Given the description of an element on the screen output the (x, y) to click on. 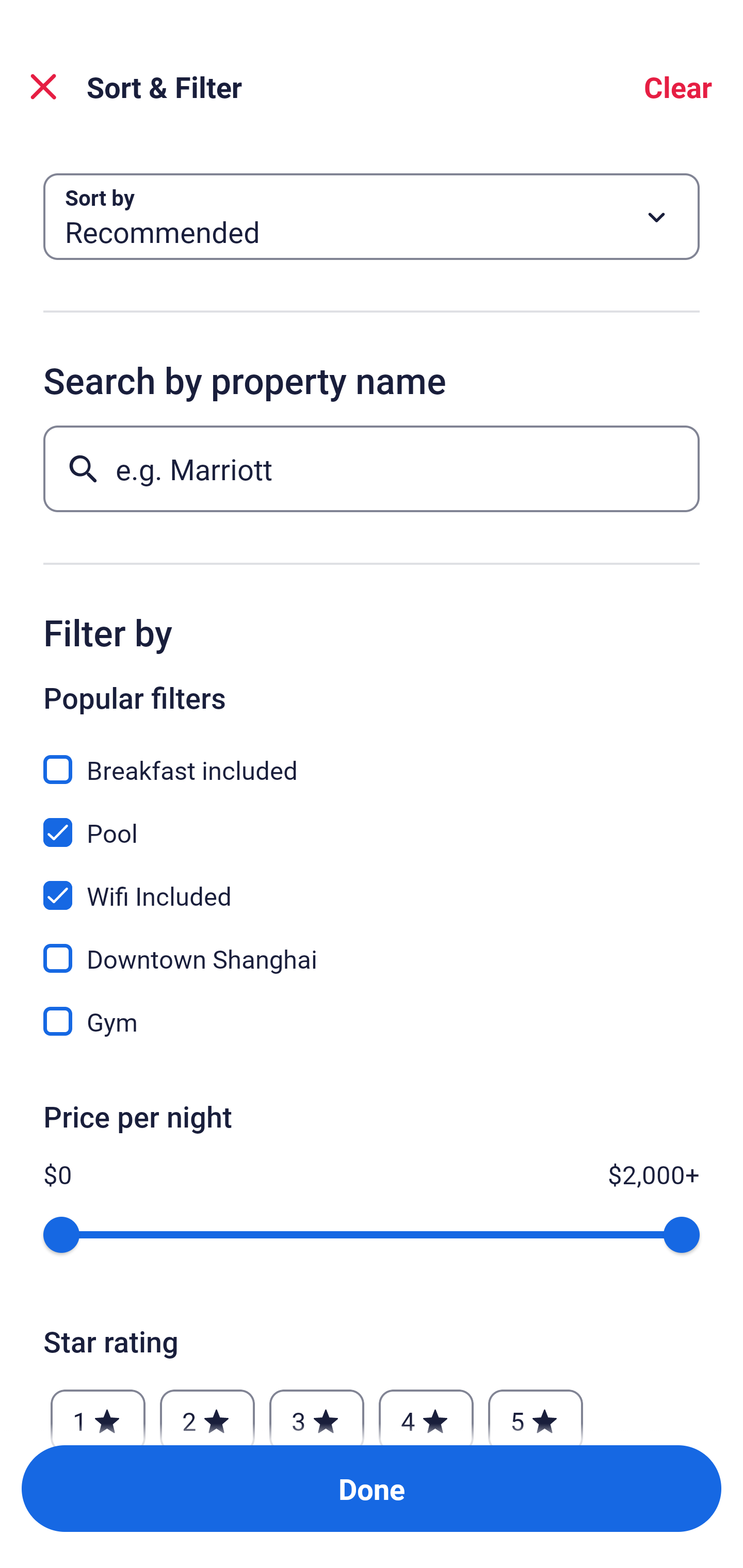
Close Sort and Filter (43, 86)
Clear (677, 86)
Sort by Button Recommended (371, 217)
e.g. Marriott Button (371, 468)
Breakfast included, Breakfast included (371, 757)
Pool, Pool (371, 821)
Wifi Included, Wifi Included (371, 883)
Downtown Shanghai, Downtown Shanghai (371, 946)
Gym, Gym (371, 1021)
1 (97, 1411)
2 (206, 1411)
3 (316, 1411)
4 (426, 1411)
5 (535, 1411)
Apply and close Sort and Filter Done (371, 1488)
